Given the description of an element on the screen output the (x, y) to click on. 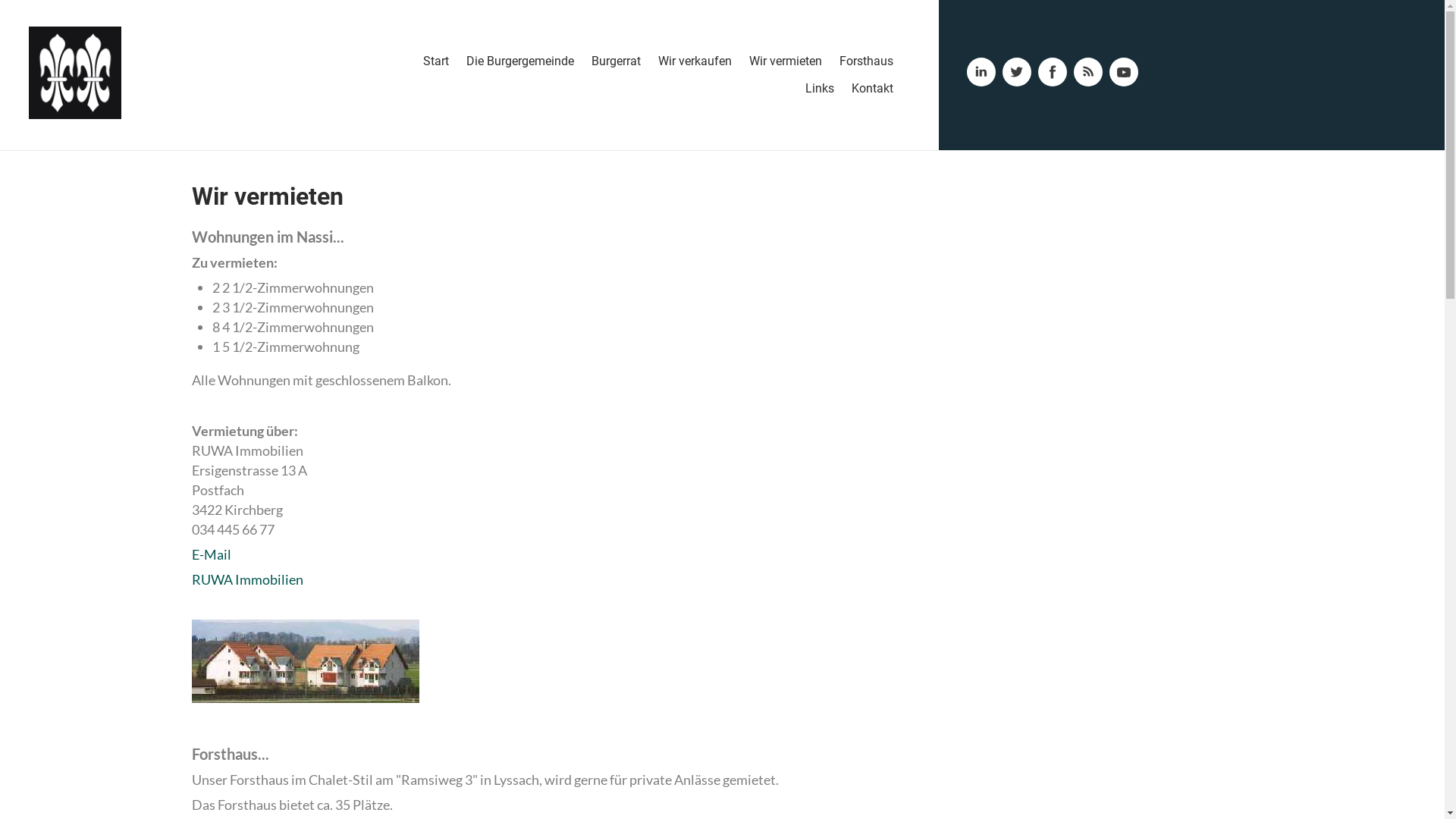
Burgerrat Element type: text (615, 61)
Youtube Element type: text (1123, 71)
Twitter Element type: text (1016, 71)
Facebook Element type: text (1052, 71)
Linkedin Element type: text (980, 71)
Links Element type: text (819, 88)
  Element type: text (231, 554)
Forsthaus Element type: text (865, 61)
Die Burgergemeinde Element type: text (519, 61)
E-Mail Element type: text (210, 554)
Wir vermieten Element type: text (785, 61)
Kontakt Element type: text (872, 88)
Wir verkaufen Element type: text (694, 61)
Rss Element type: text (1087, 71)
Start Element type: text (435, 61)
RUWA Immobilien Element type: text (246, 579)
